Given the description of an element on the screen output the (x, y) to click on. 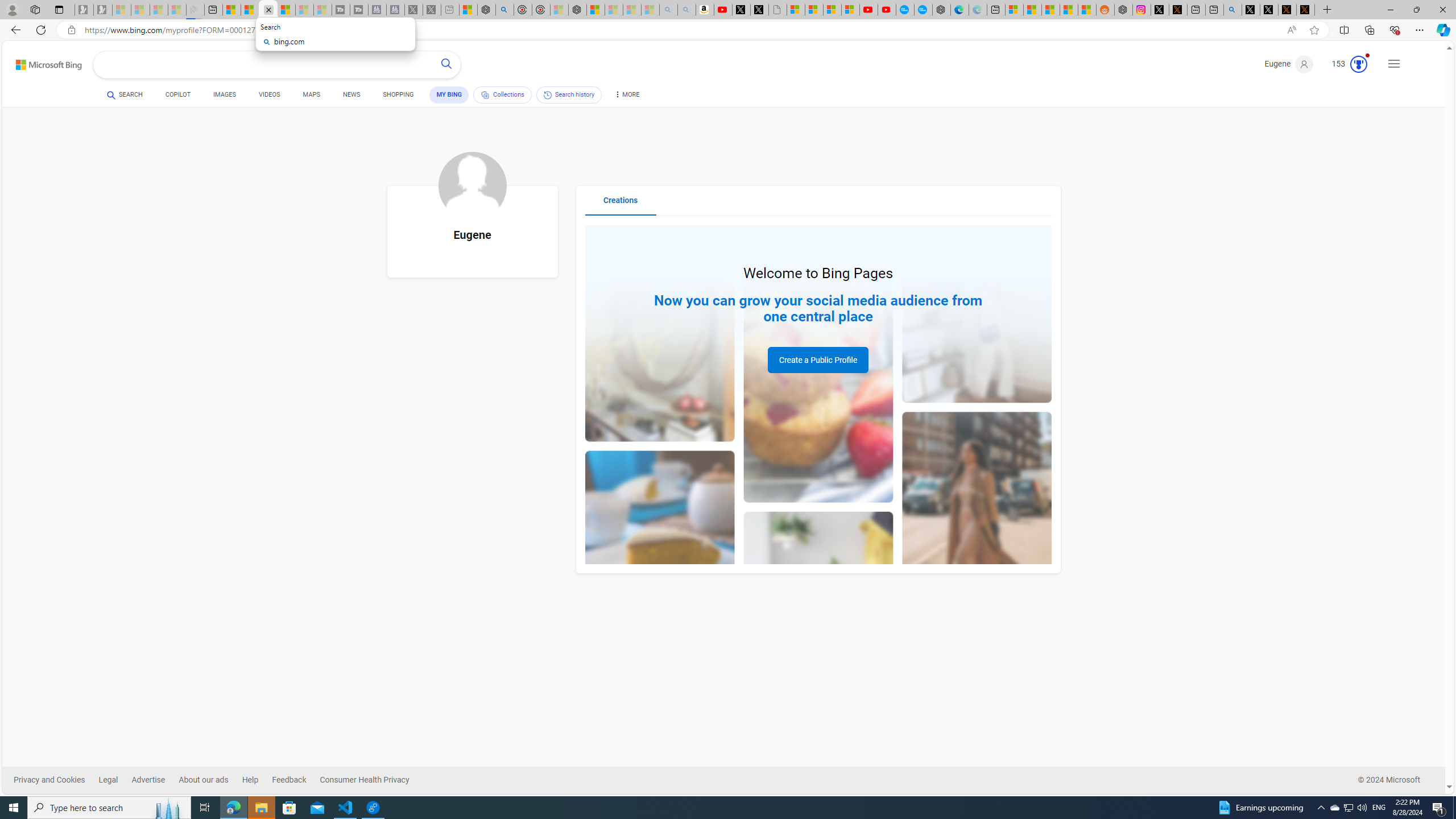
Help (256, 780)
SHOPPING (397, 96)
YouTube Kids - An App Created for Kids to Explore Content (887, 9)
Log in to X / X (1159, 9)
Dropdown Menu (625, 94)
Class: medal-circled (1358, 63)
